Given the description of an element on the screen output the (x, y) to click on. 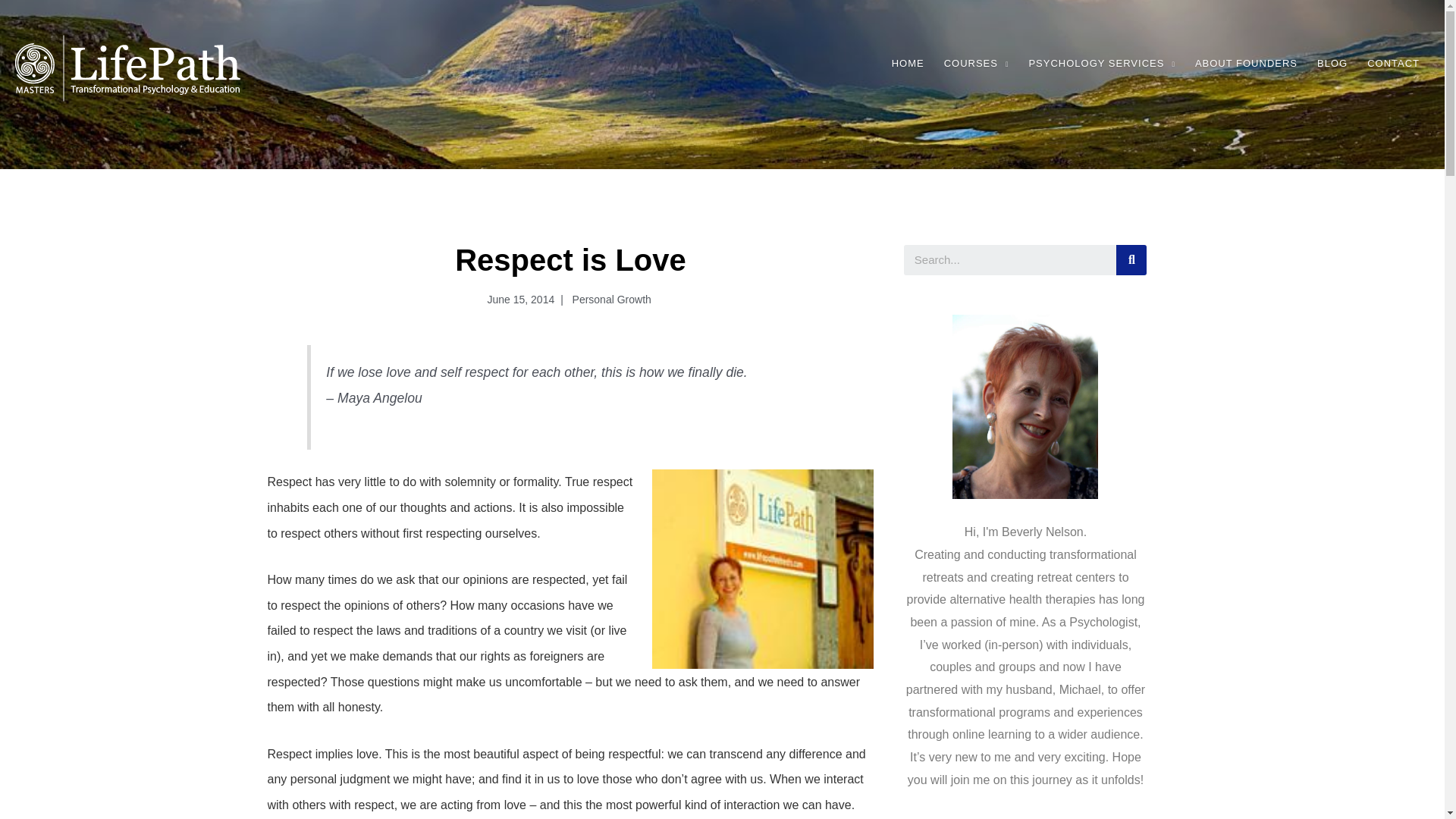
CONTACT (1392, 63)
June 15, 2014 (517, 300)
Personal Growth (609, 299)
Search (1131, 259)
HOME (908, 63)
Respect is Love (762, 569)
PSYCHOLOGY SERVICES (1101, 63)
ABOUT FOUNDERS (1246, 63)
Search (1010, 259)
BLOG (1331, 63)
